Given the description of an element on the screen output the (x, y) to click on. 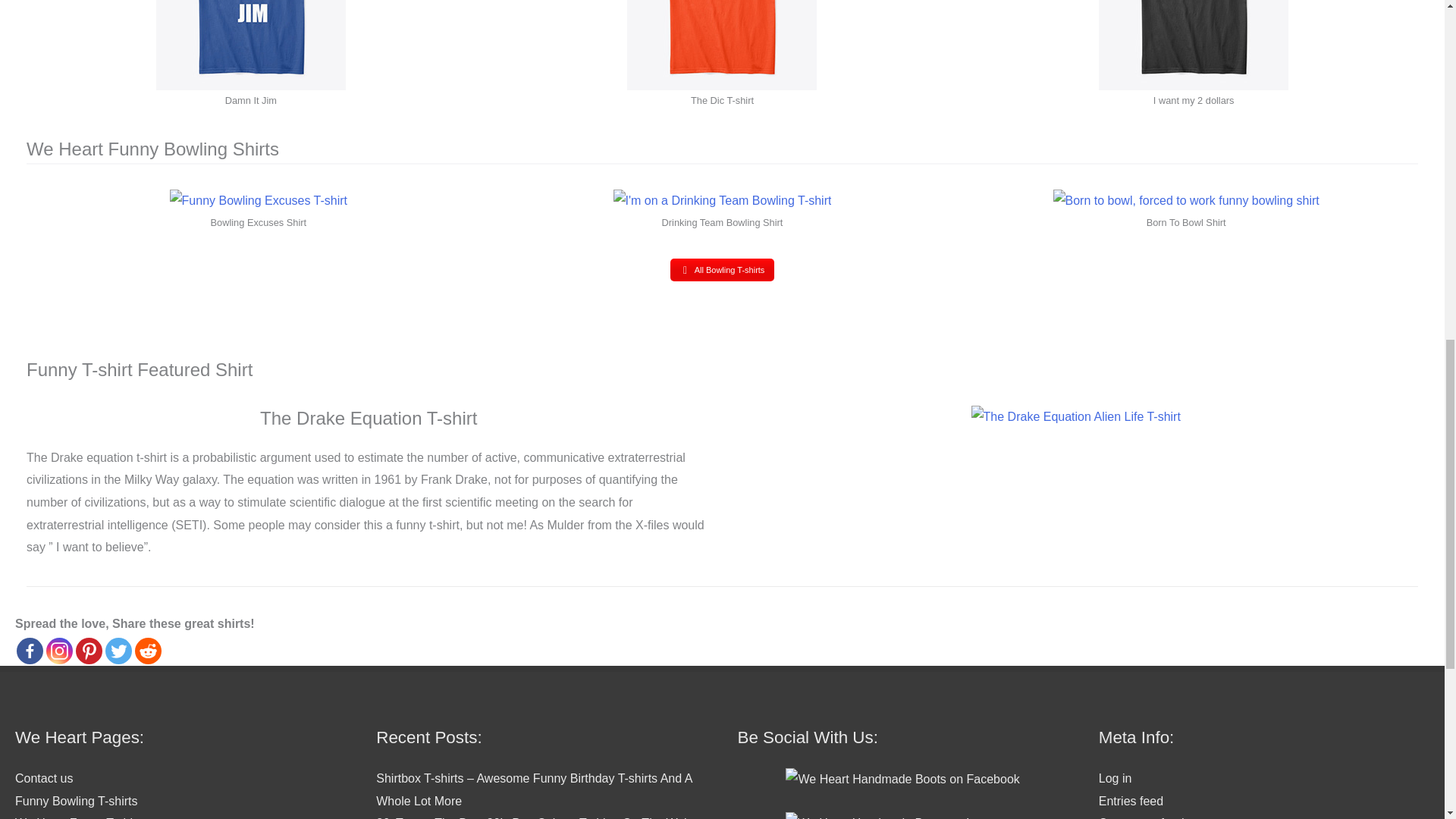
Instagram (59, 651)
We Heart Funny T-shirts (80, 817)
All Bowling T-shirts (721, 269)
Facebook (29, 651)
Funny Bowling T-shirts (721, 269)
Funny Bowling T-shirts (76, 800)
Pinterest (88, 651)
Twitter (118, 651)
Reddit (148, 651)
Contact us (43, 778)
